Given the description of an element on the screen output the (x, y) to click on. 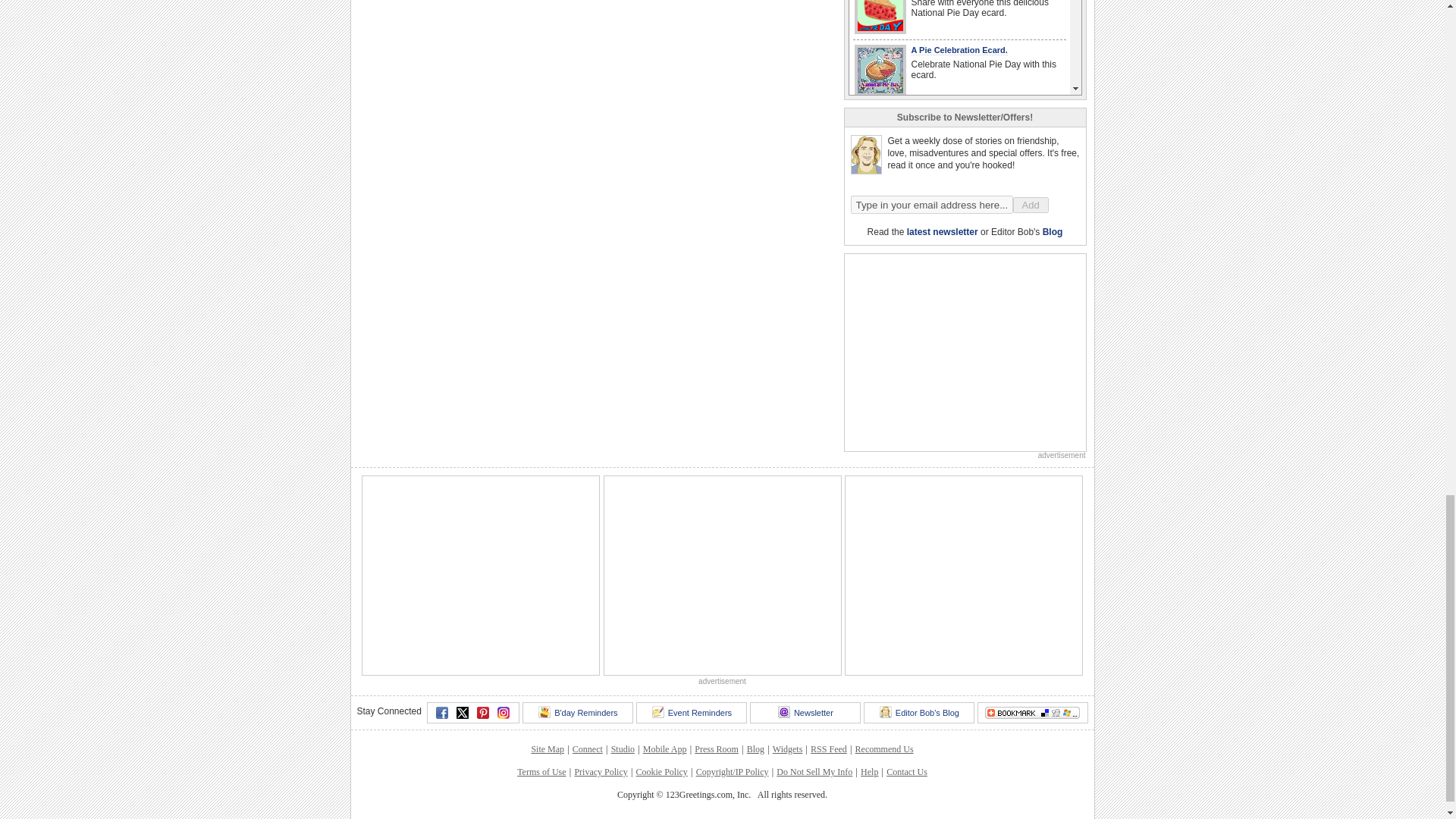
Type in your email address here... (931, 204)
